Given the description of an element on the screen output the (x, y) to click on. 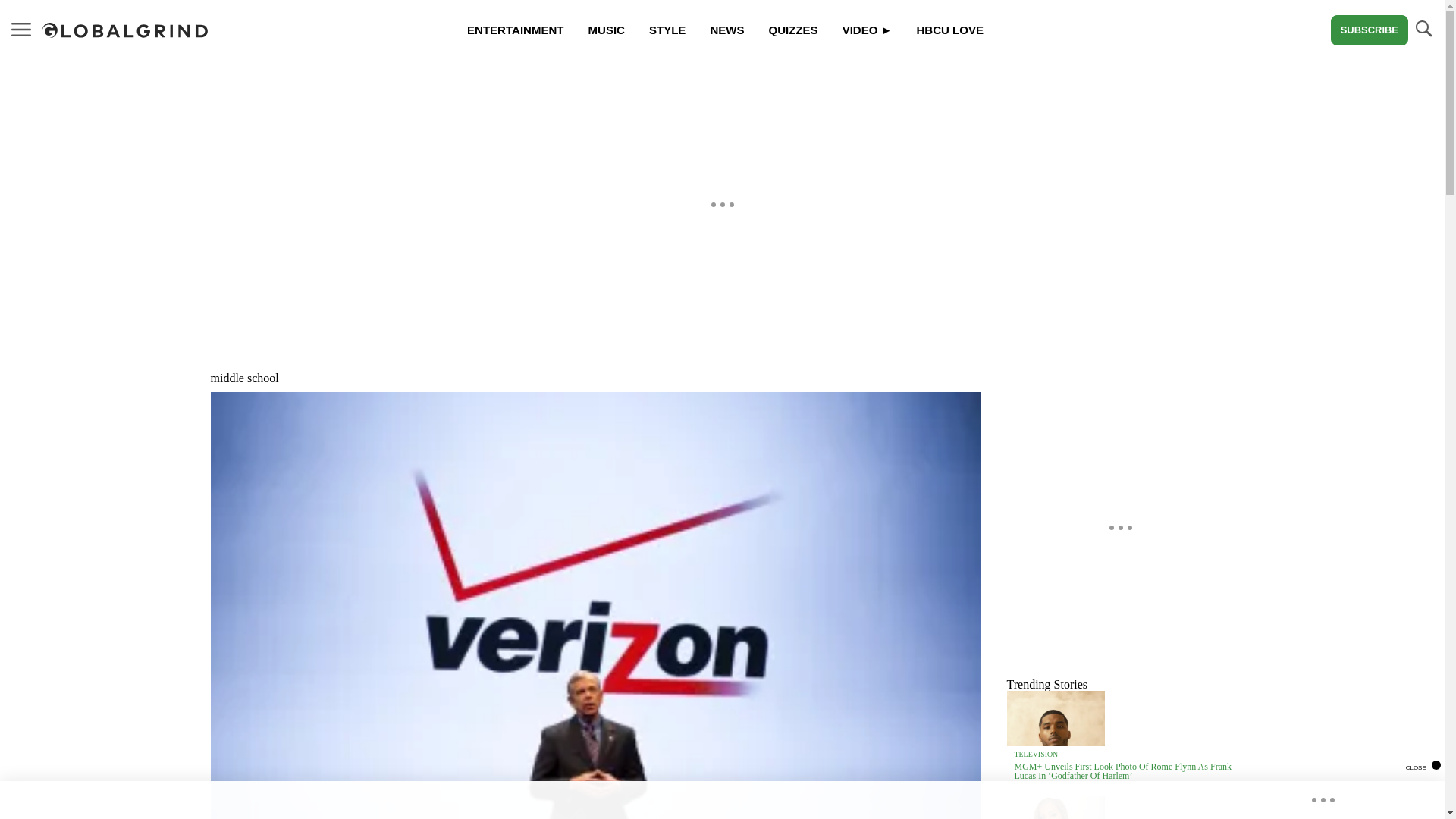
QUIZZES (792, 30)
MUSIC (606, 30)
ENTERTAINMENT (514, 30)
TOGGLE SEARCH (1422, 28)
MENU (20, 29)
STYLE (667, 30)
MENU (20, 30)
HBCU LOVE (949, 30)
SUBSCRIBE (1368, 30)
TOGGLE SEARCH (1422, 30)
